Given the description of an element on the screen output the (x, y) to click on. 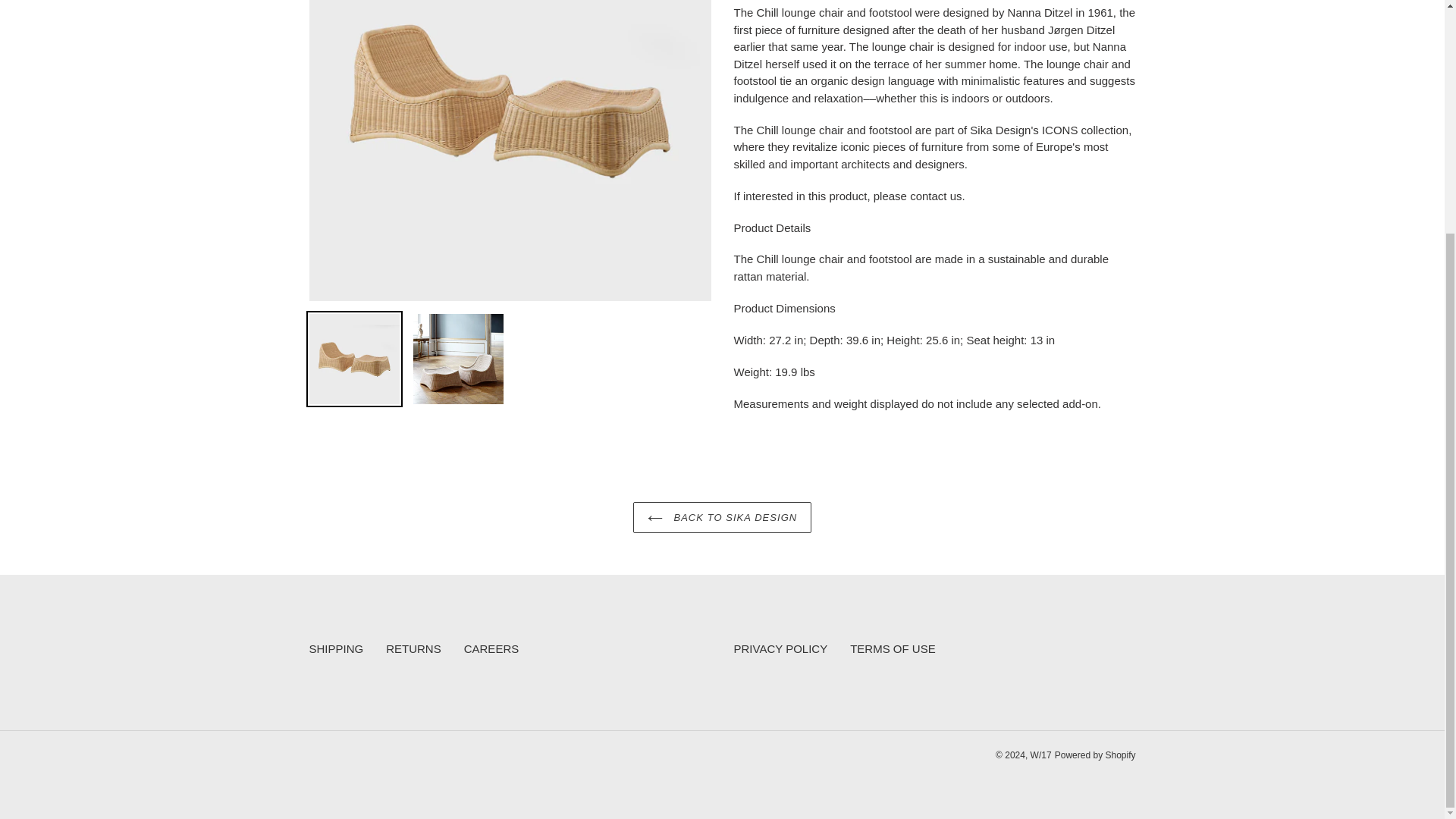
RETURNS (413, 648)
SHIPPING (336, 648)
TERMS OF USE (893, 648)
BACK TO SIKA DESIGN (721, 517)
Powered by Shopify (1094, 755)
PRIVACY POLICY (780, 648)
CAREERS (491, 648)
